Given the description of an element on the screen output the (x, y) to click on. 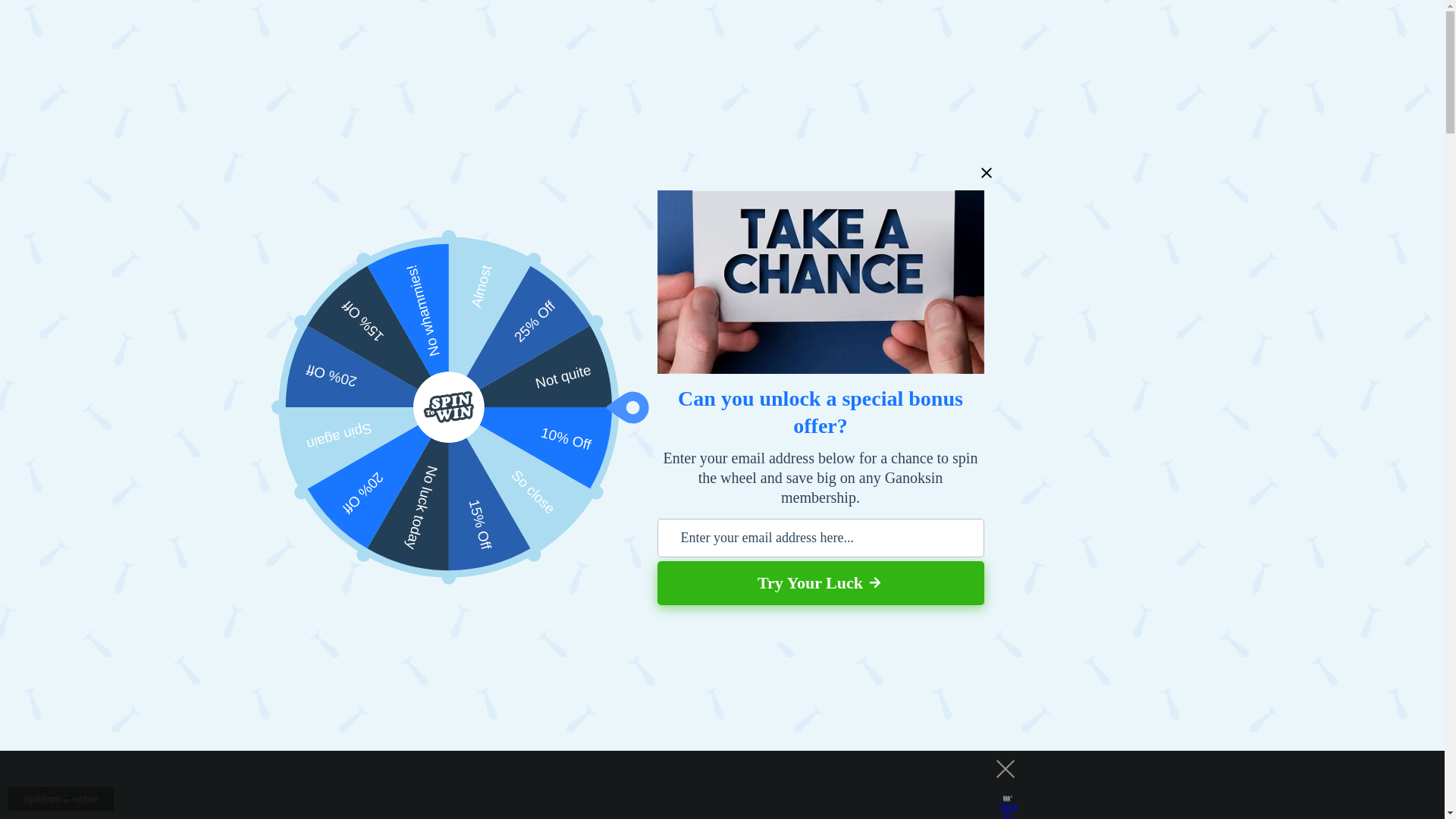
Learn (1004, 45)
3rd party ad content (555, 587)
3rd party ad content (708, 785)
More from this author (432, 683)
Try Your Luck (820, 583)
Fabrication (551, 478)
Wire Working (626, 478)
Learning Center (380, 478)
LOGIN (1342, 21)
Shop (1079, 45)
About (1339, 45)
Close (986, 172)
MEMBERSHIP (1254, 21)
Community (1158, 45)
Home (310, 478)
